Given the description of an element on the screen output the (x, y) to click on. 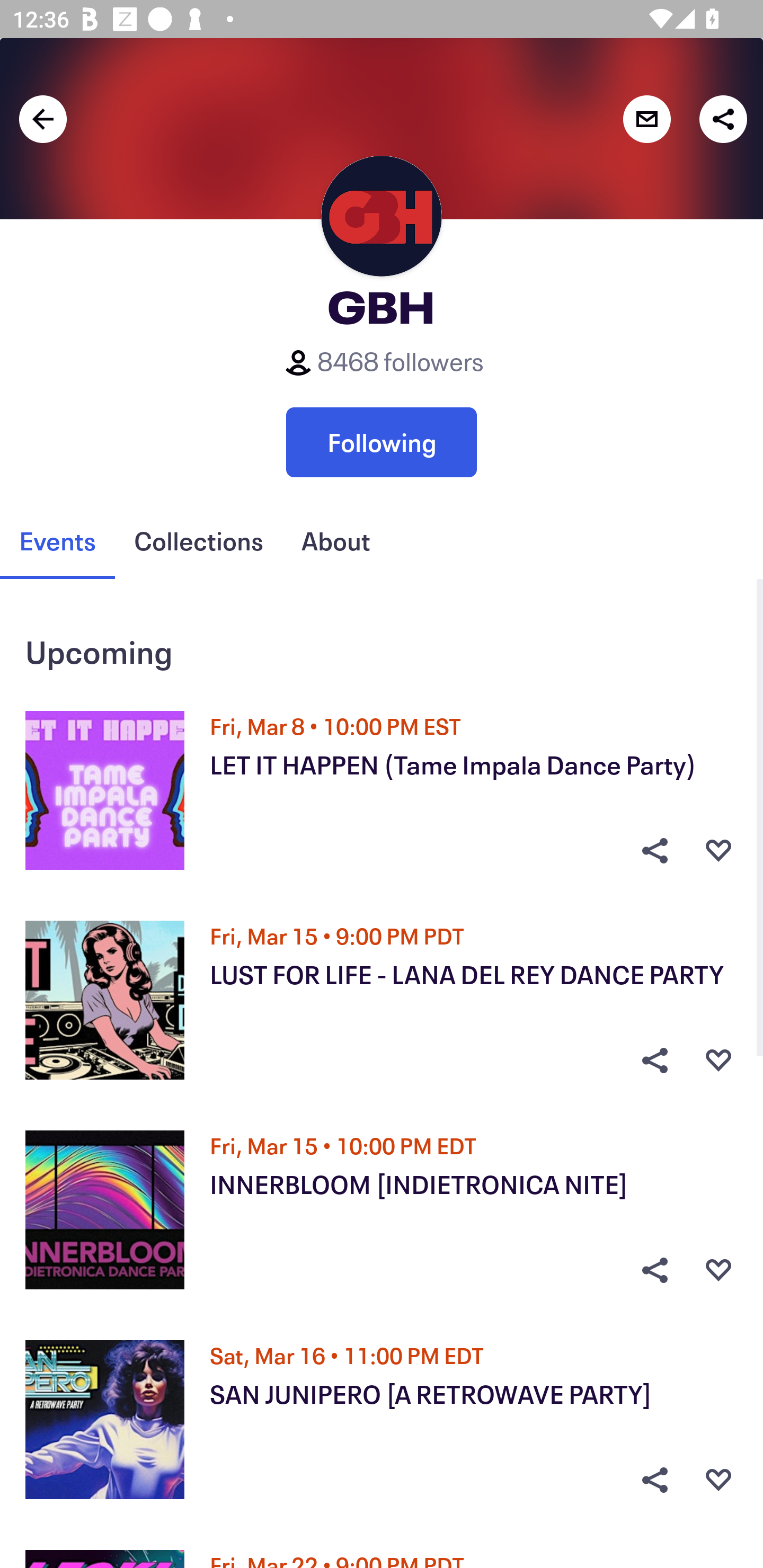
Back navigation arrow (43, 118)
Contact organizer (646, 118)
Share with friends (722, 118)
Following (381, 441)
Collections (198, 540)
About (335, 540)
Share Event (654, 850)
Like event (718, 850)
Share Event (654, 1060)
Like event (718, 1060)
Share Event (654, 1269)
Like event (718, 1269)
Share Event (654, 1480)
Like event (718, 1480)
